Given the description of an element on the screen output the (x, y) to click on. 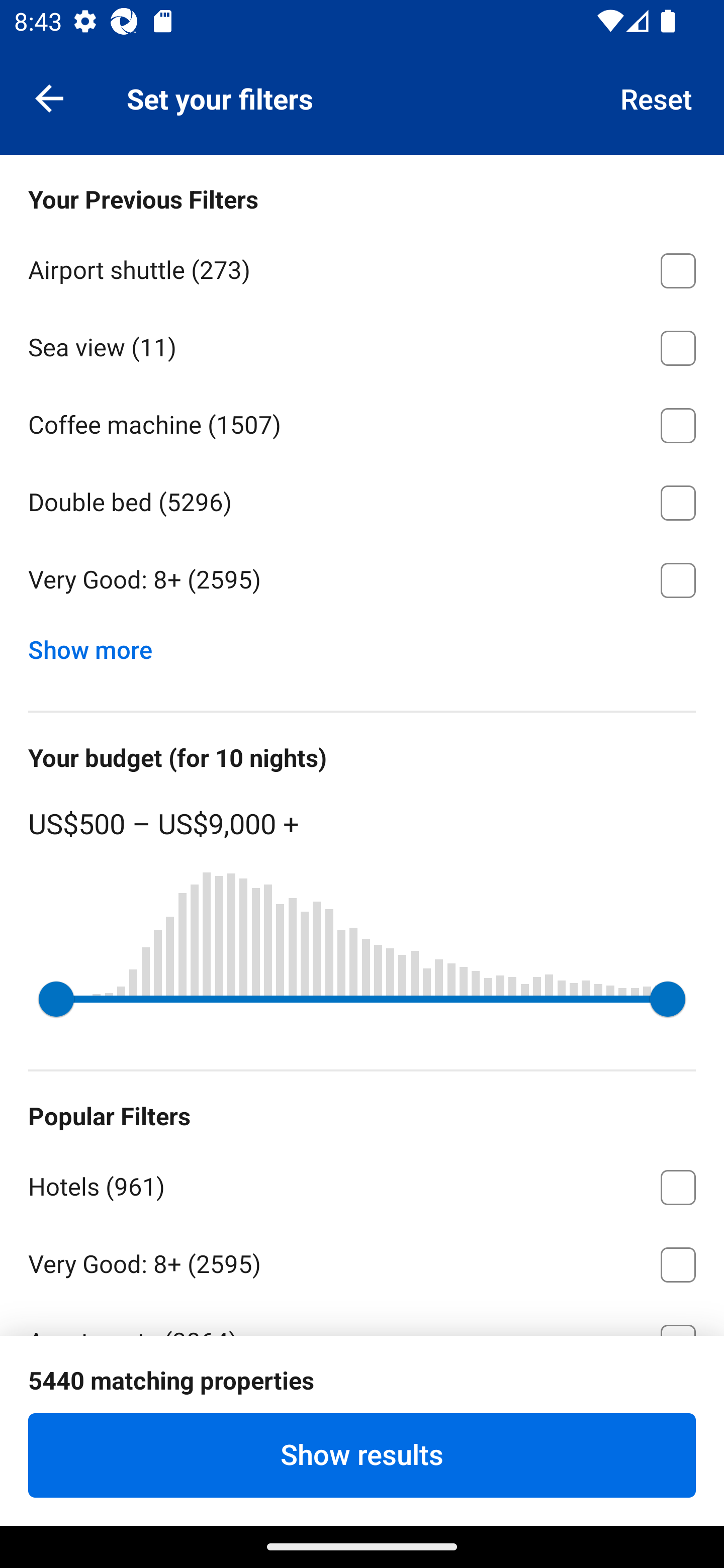
Navigate up (49, 97)
Reset (656, 97)
Airport shuttle ⁦(273) (361, 266)
Sea view ⁦(11) (361, 344)
Coffee machine ⁦(1507) (361, 422)
Double bed ⁦(5296) (361, 498)
Very Good: 8+ ⁦(2595) (361, 579)
Show more (97, 645)
Hotels ⁦(961) (361, 1183)
Very Good: 8+ ⁦(2595) (361, 1261)
Show results (361, 1454)
